Given the description of an element on the screen output the (x, y) to click on. 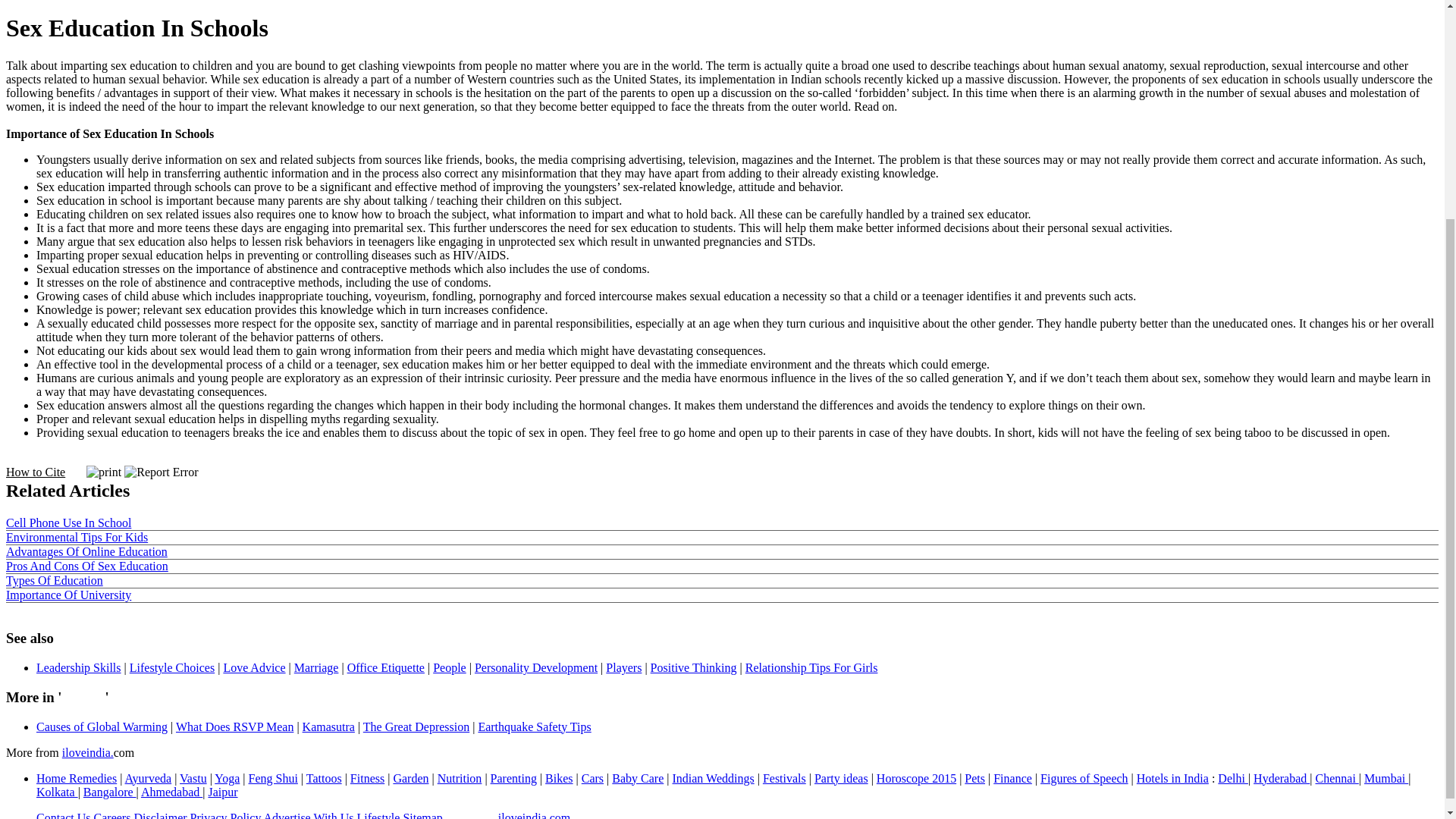
Love Advice (253, 667)
Types Of Education (54, 580)
Marriage (316, 667)
Importance Of University (68, 594)
Advantages Of Online Education (86, 551)
Lifestyle Choices (171, 667)
Players (623, 667)
Office Etiquette (386, 667)
Pros And Cons Of Sex Education (86, 565)
Leadership Skills (78, 667)
